Given the description of an element on the screen output the (x, y) to click on. 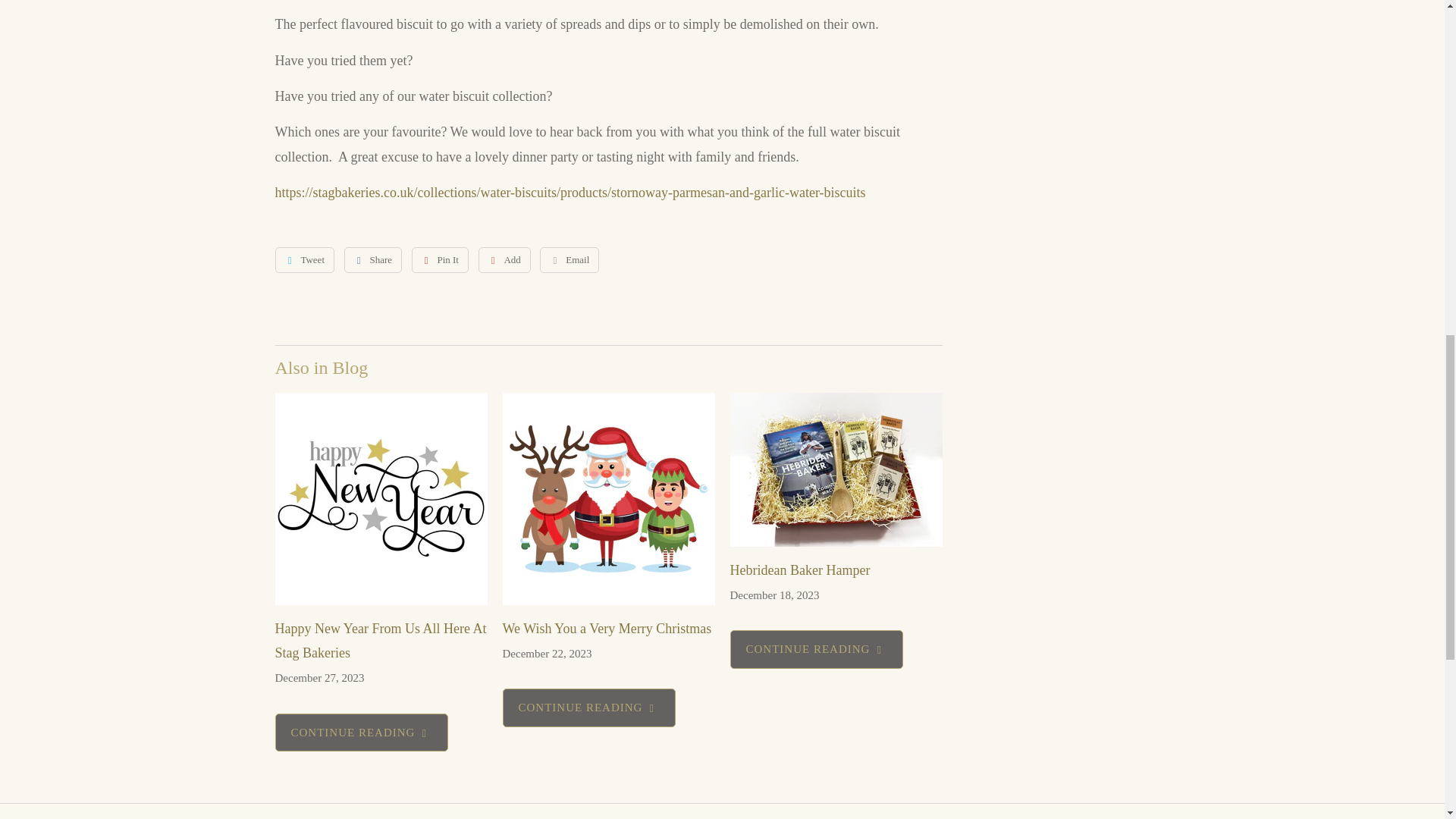
Pin It (440, 259)
Tweet (304, 259)
Email (569, 259)
Share this on Twitter (304, 259)
Add (503, 259)
We Wish You a Very Merry Christmas (606, 628)
Share (373, 259)
Happy New Year From Us All Here At Stag Bakeries (380, 640)
CONTINUE READING (361, 732)
